Given the description of an element on the screen output the (x, y) to click on. 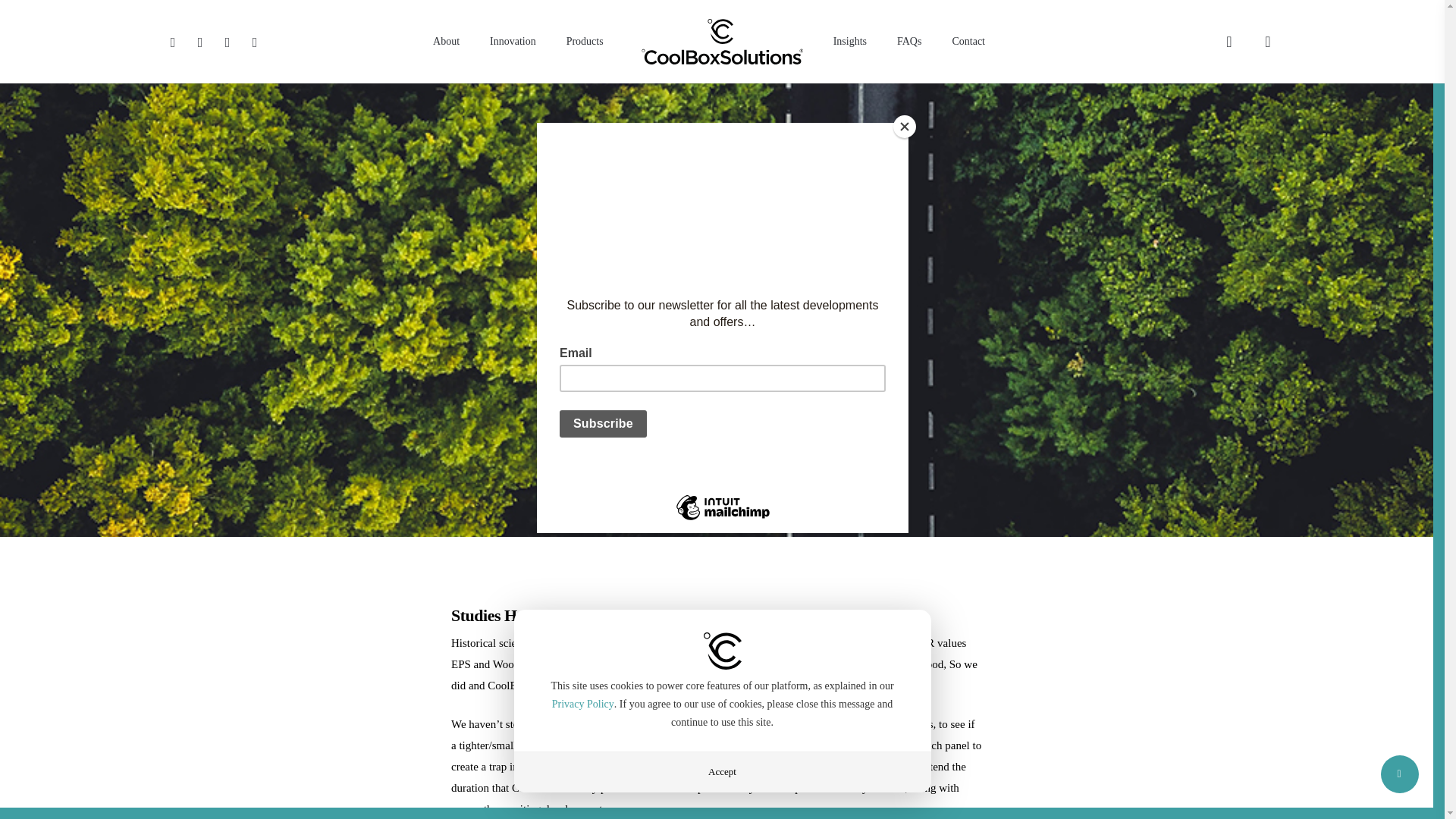
linkedin (227, 41)
Products (584, 41)
facebook (200, 41)
About (445, 41)
twitter (172, 41)
Innovation (512, 41)
News (708, 331)
FAQs (909, 41)
Contact (968, 41)
search (1229, 41)
Insights (850, 41)
instagram (254, 41)
